Given the description of an element on the screen output the (x, y) to click on. 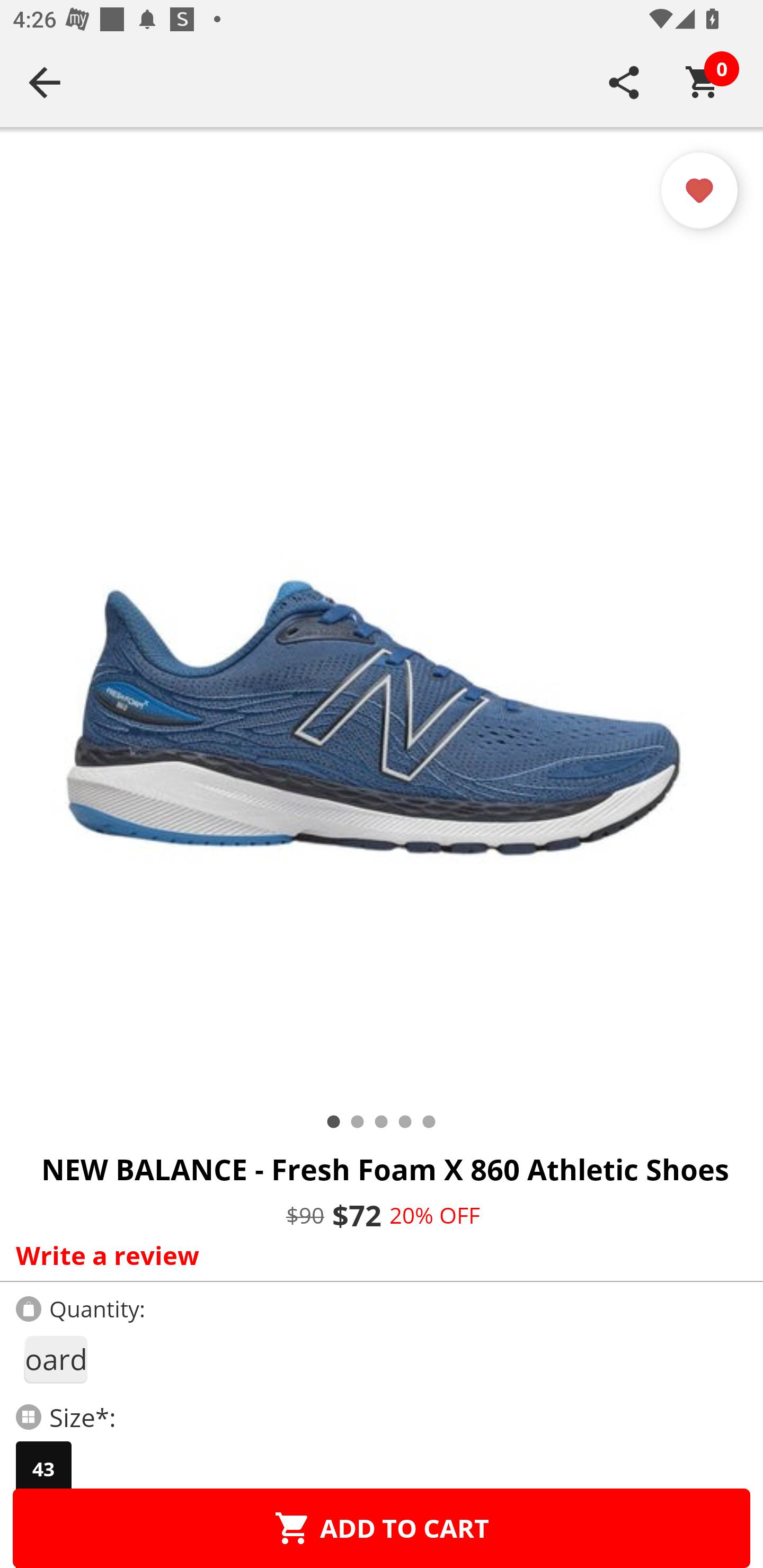
Navigate up (44, 82)
SHARE (623, 82)
Cart (703, 81)
Write a review (377, 1255)
1keyboard (55, 1358)
43 (43, 1468)
ADD TO CART (381, 1528)
